Given the description of an element on the screen output the (x, y) to click on. 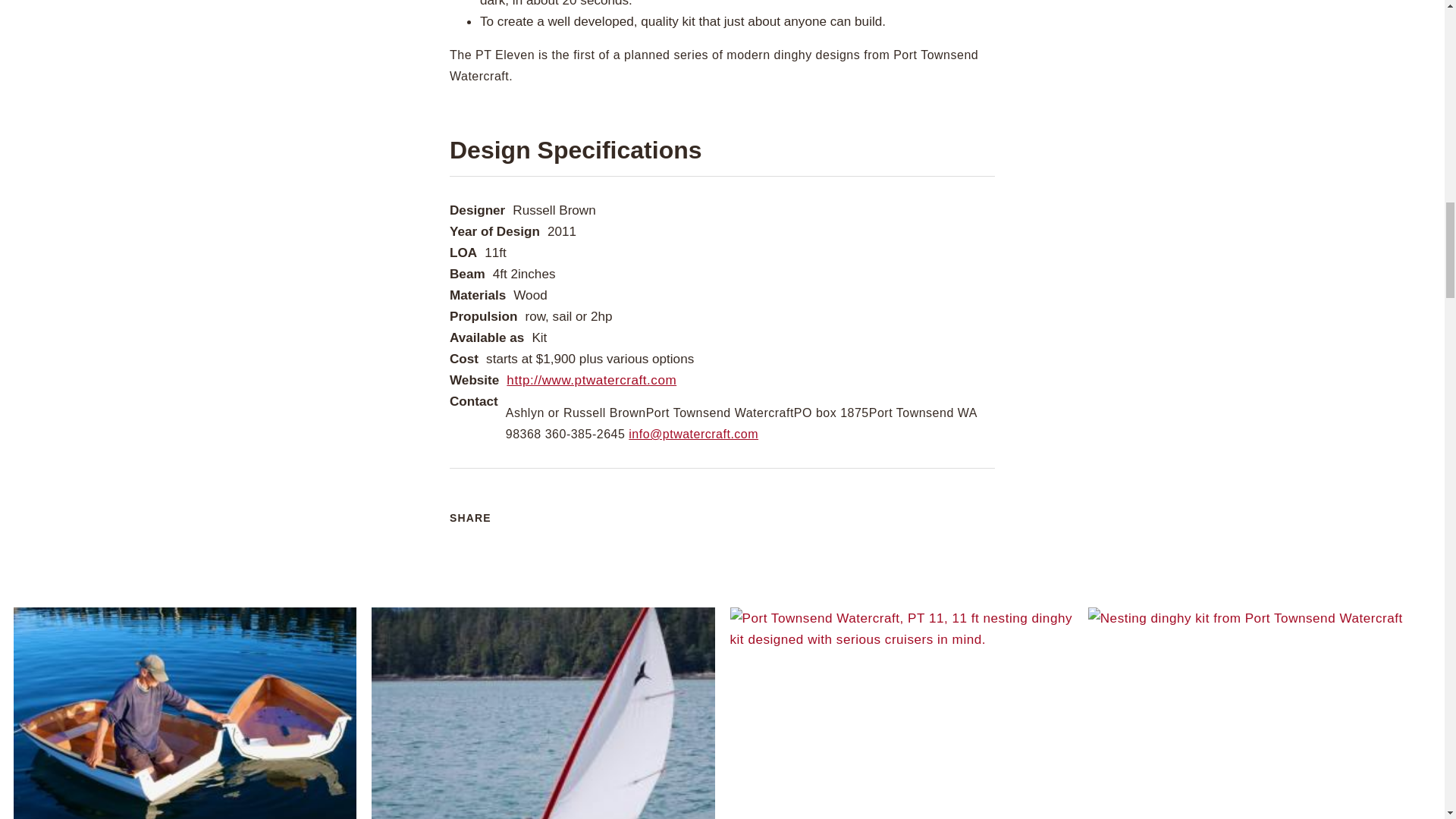
PT 11 nesting dinghy designed with serious cruising in mind. (900, 713)
Share to Linkedin (615, 509)
Share to Twitter (555, 509)
Share to E-mail (645, 509)
Share to Facebook (524, 509)
PT 11 nesting dinghy from PT Watercraft (184, 713)
Share to Pinterest (584, 509)
The PT 11 rows and sails very well! (542, 713)
